Given the description of an element on the screen output the (x, y) to click on. 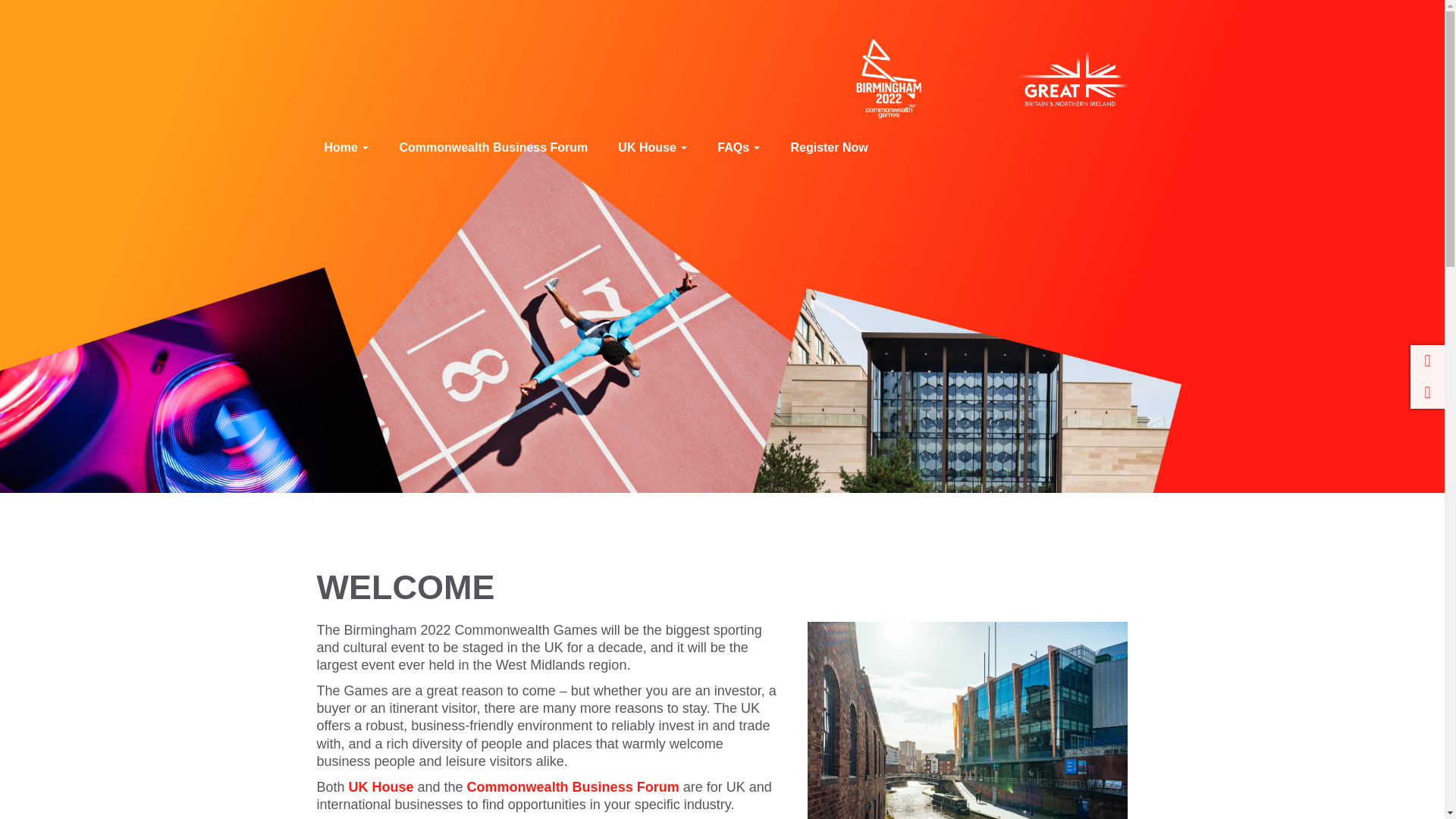
UK House (381, 786)
Commonwealth Business Forum (573, 786)
Register Now (828, 146)
FAQs (737, 146)
Commonwealth Business Forum (493, 146)
UK House (651, 146)
Home (346, 146)
